Given the description of an element on the screen output the (x, y) to click on. 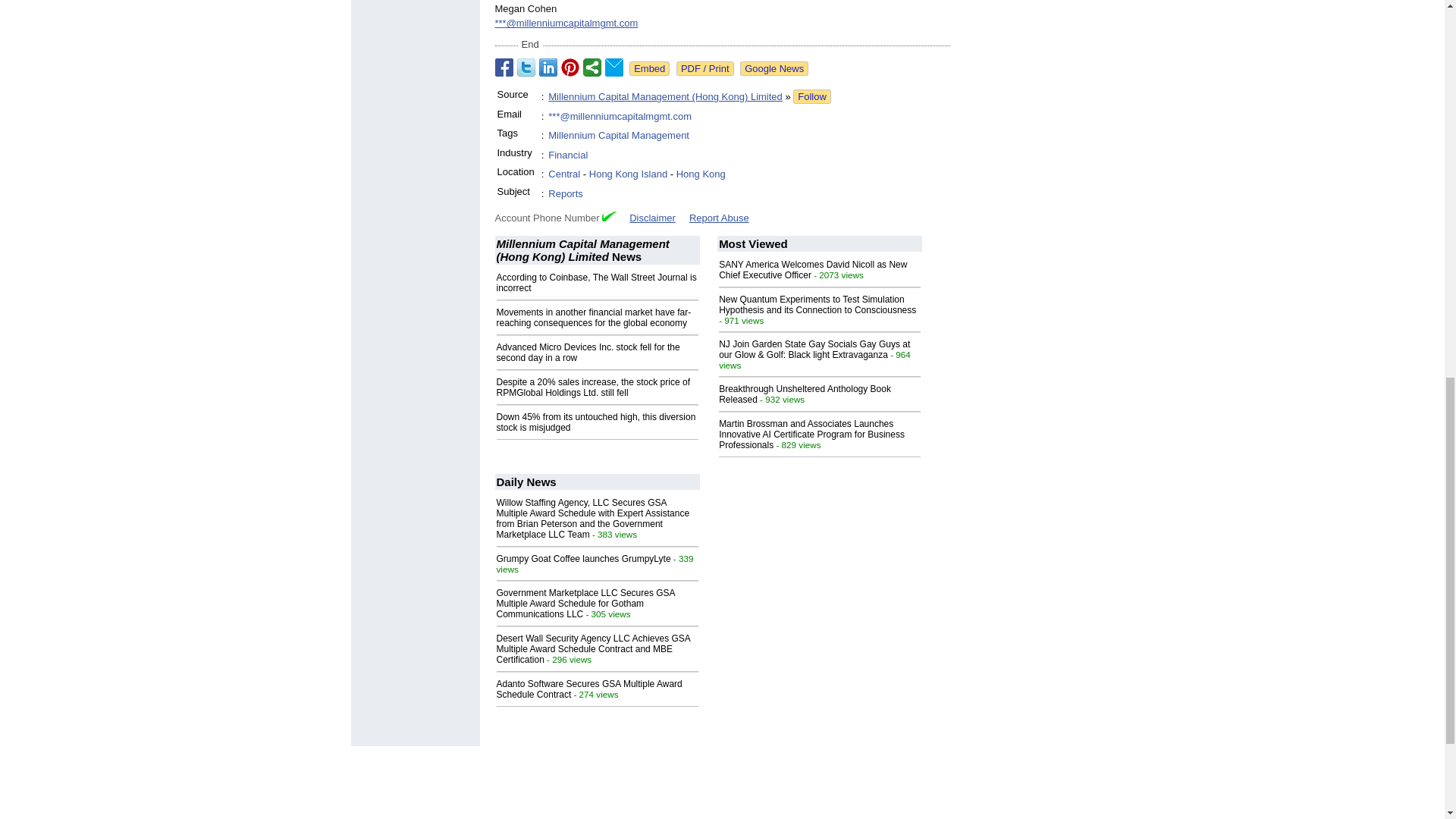
Share on StumbleUpon, Digg, etc (590, 67)
Email to a Friend (614, 67)
Share on Facebook (503, 67)
Verified (608, 216)
Embed this press release in your website! (648, 68)
Share on Twitter (525, 67)
Share on LinkedIn (547, 67)
See or print the PDF version! (705, 68)
Share on Pinterest (569, 67)
